Given the description of an element on the screen output the (x, y) to click on. 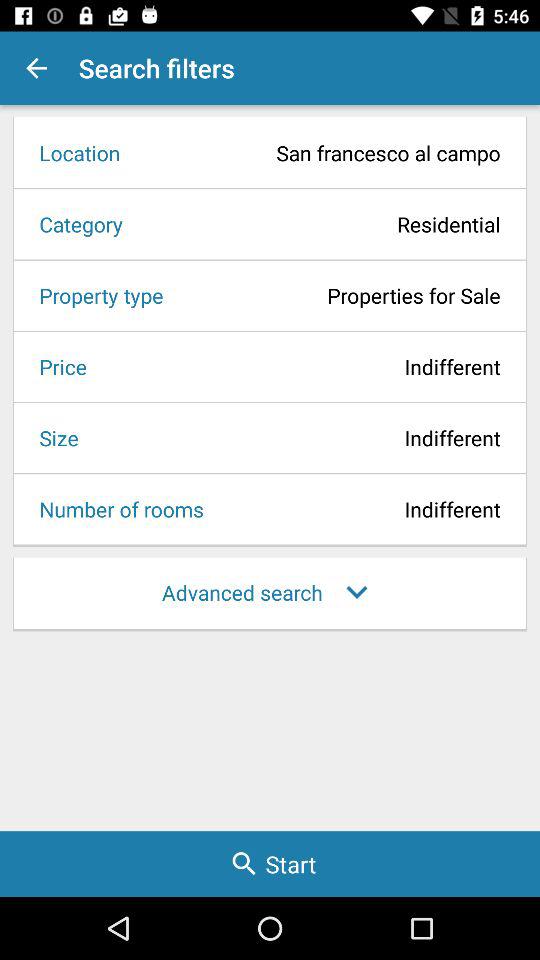
open the icon to the left of the indifferent icon (52, 437)
